Given the description of an element on the screen output the (x, y) to click on. 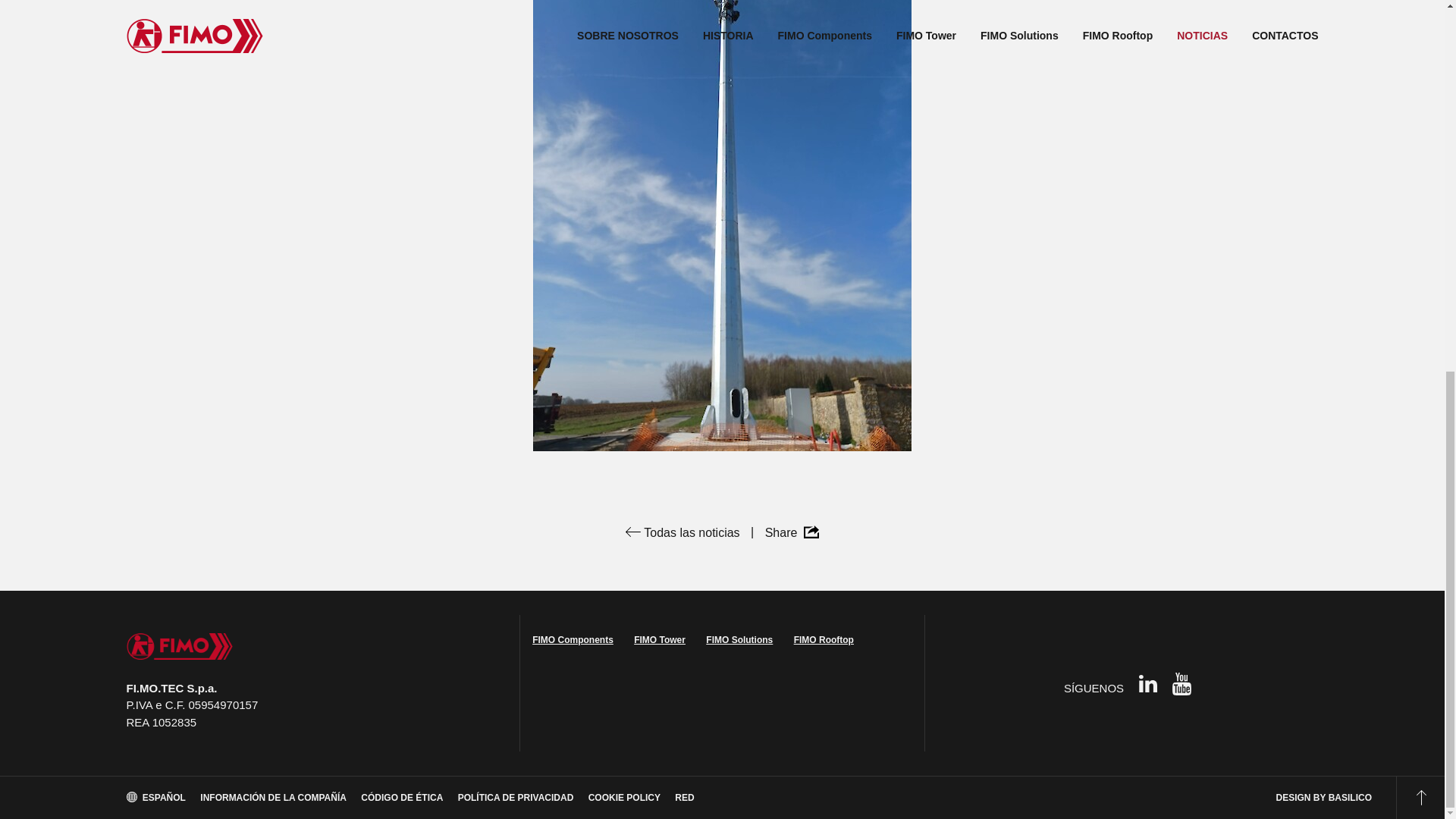
DESIGN BY BASILICO (1323, 797)
FIMO Components (572, 639)
COOKIE POLICY (624, 797)
Todas las noticias (682, 532)
FIMO Tower (659, 639)
FIMO Rooftop (823, 639)
RED (684, 797)
FIMO Solutions (739, 639)
